Given the description of an element on the screen output the (x, y) to click on. 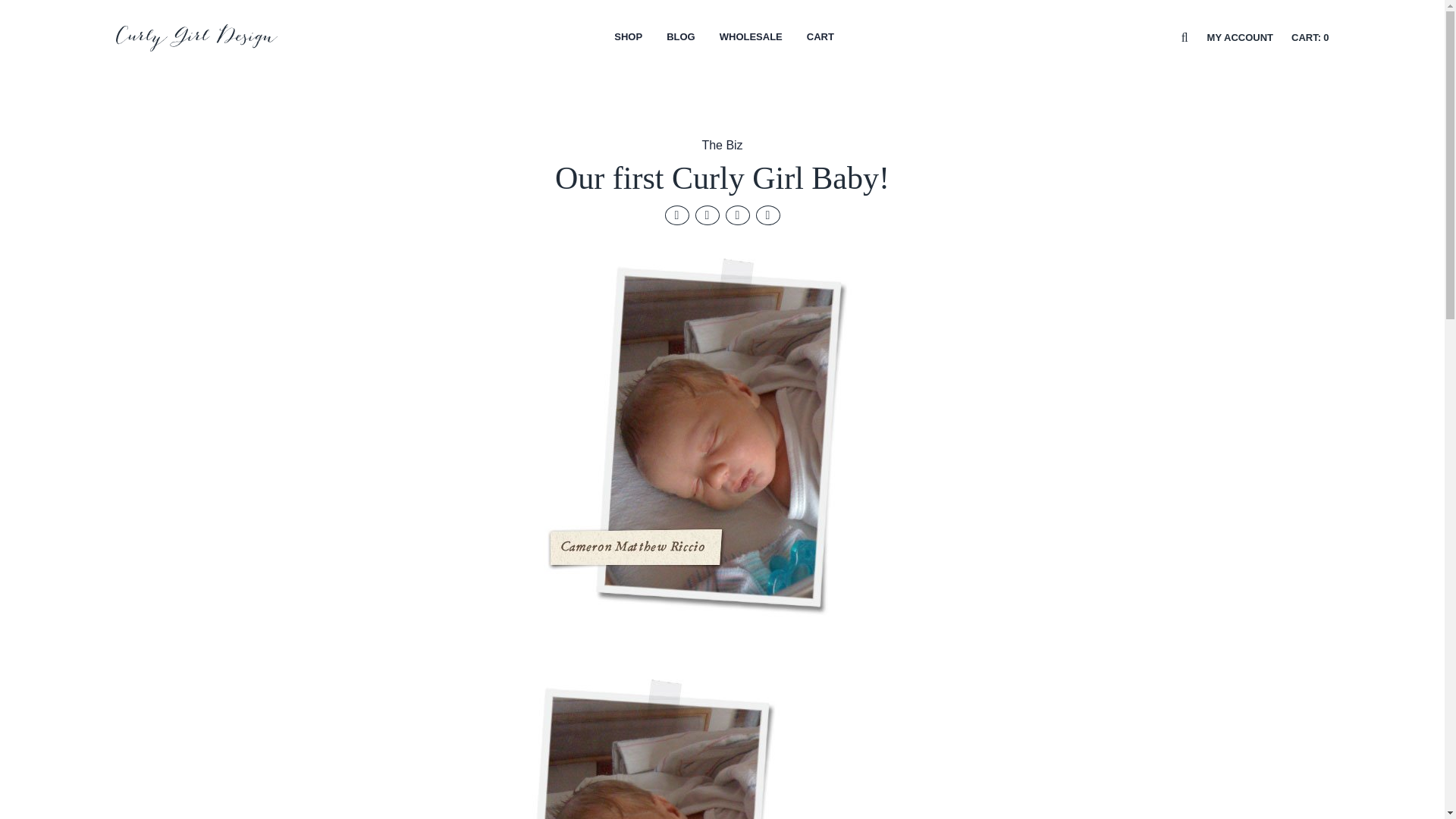
MY ACCOUNT (1239, 38)
The Biz (721, 144)
CART (820, 37)
BLOG (680, 37)
View your shopping cart (1309, 38)
WHOLESALE (751, 37)
SHOP (628, 37)
